Given the description of an element on the screen output the (x, y) to click on. 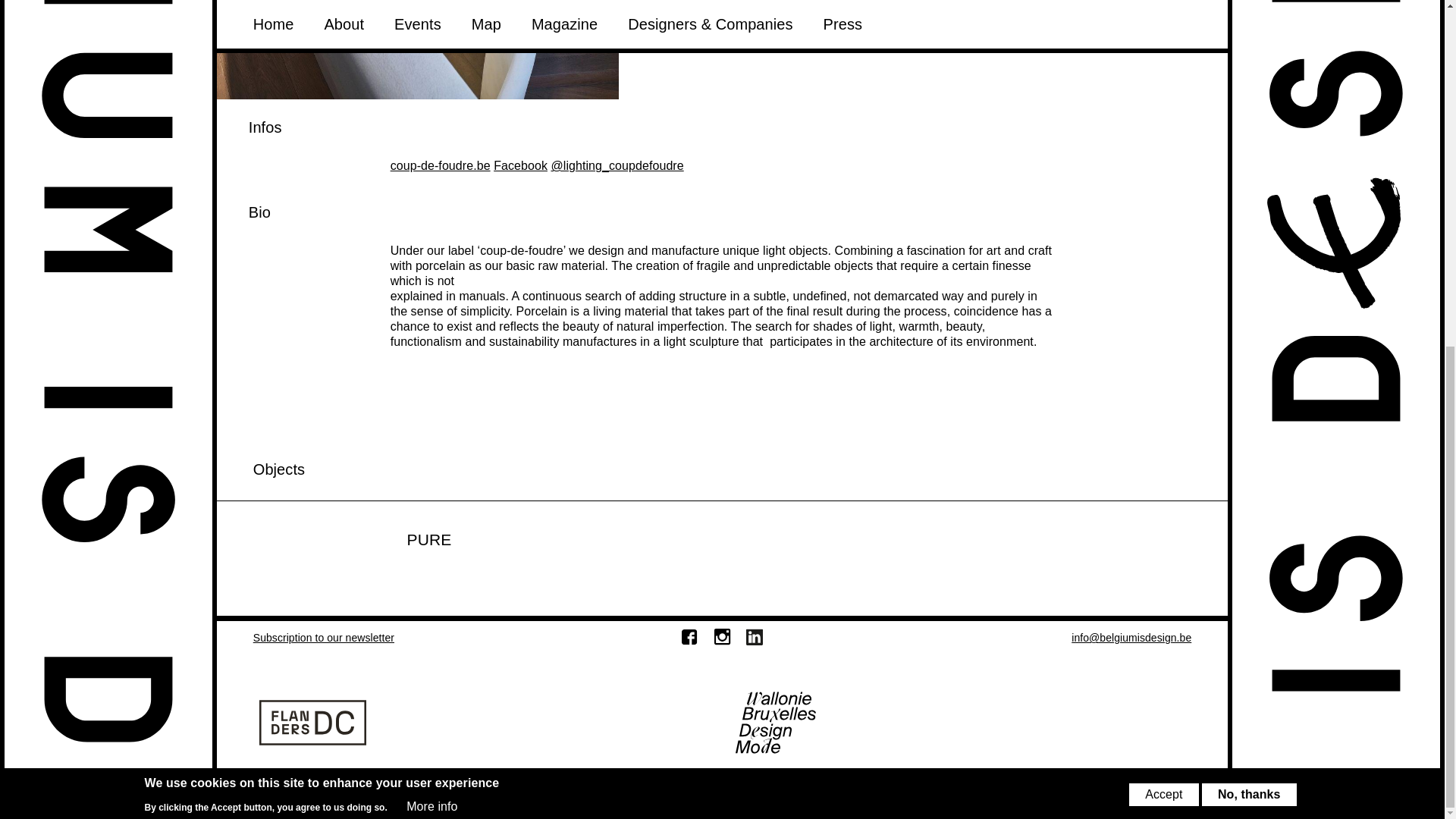
No, thanks (1249, 200)
Subscription to our newsletter (323, 637)
coup-de-foudre.be (440, 164)
Accept (1163, 200)
Kidnap Your Designer (694, 788)
More info (431, 211)
Facebook (520, 164)
